Given the description of an element on the screen output the (x, y) to click on. 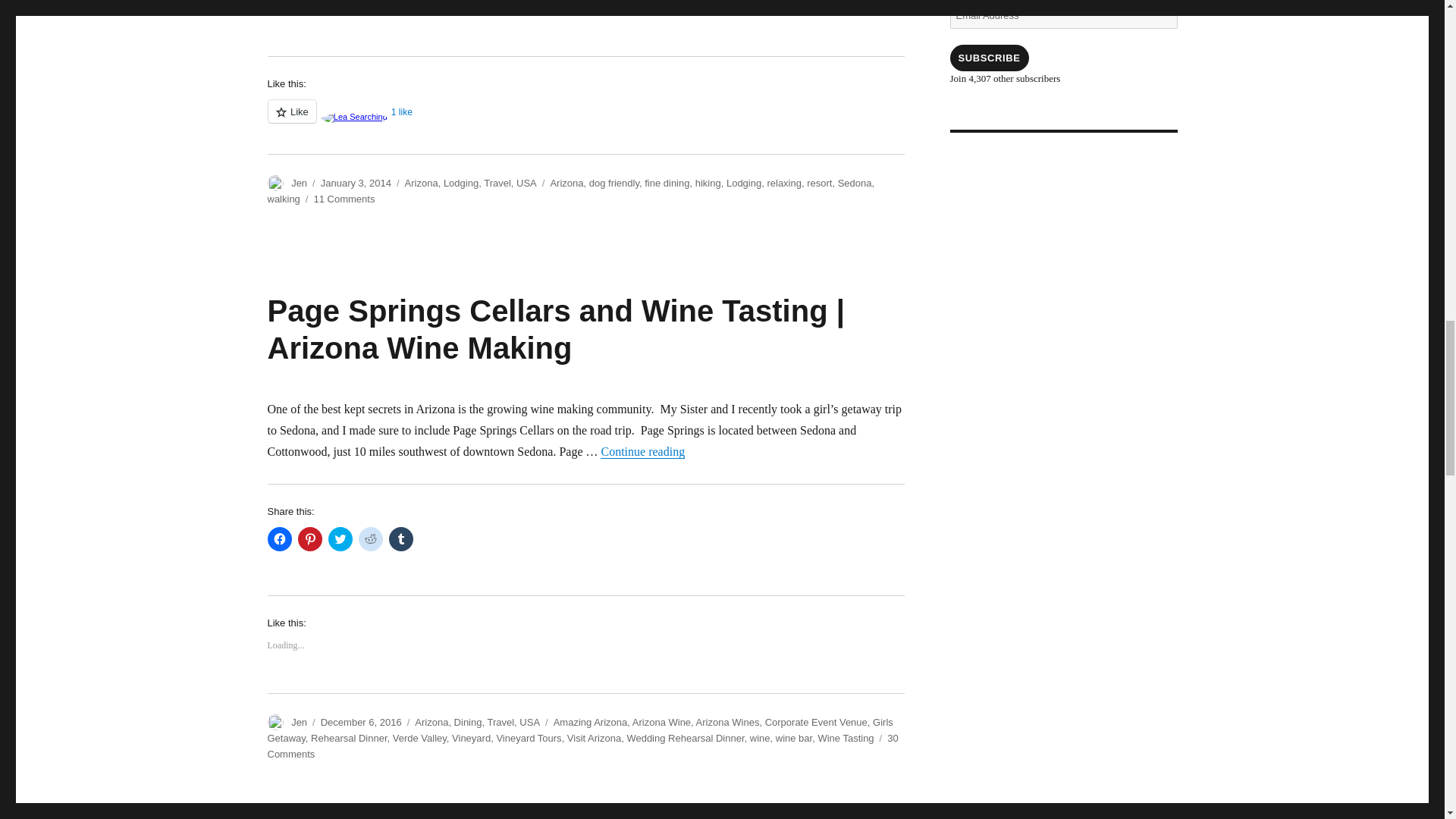
Click to share on Pinterest (309, 6)
Click to share on Twitter (339, 6)
Click to share on Twitter (339, 539)
Click to share on Reddit (369, 6)
Click to share on Facebook (278, 539)
Like or Reblog (585, 119)
Click to share on Facebook (278, 6)
Click to share on Pinterest (309, 539)
Click to share on Tumblr (400, 6)
